Given the description of an element on the screen output the (x, y) to click on. 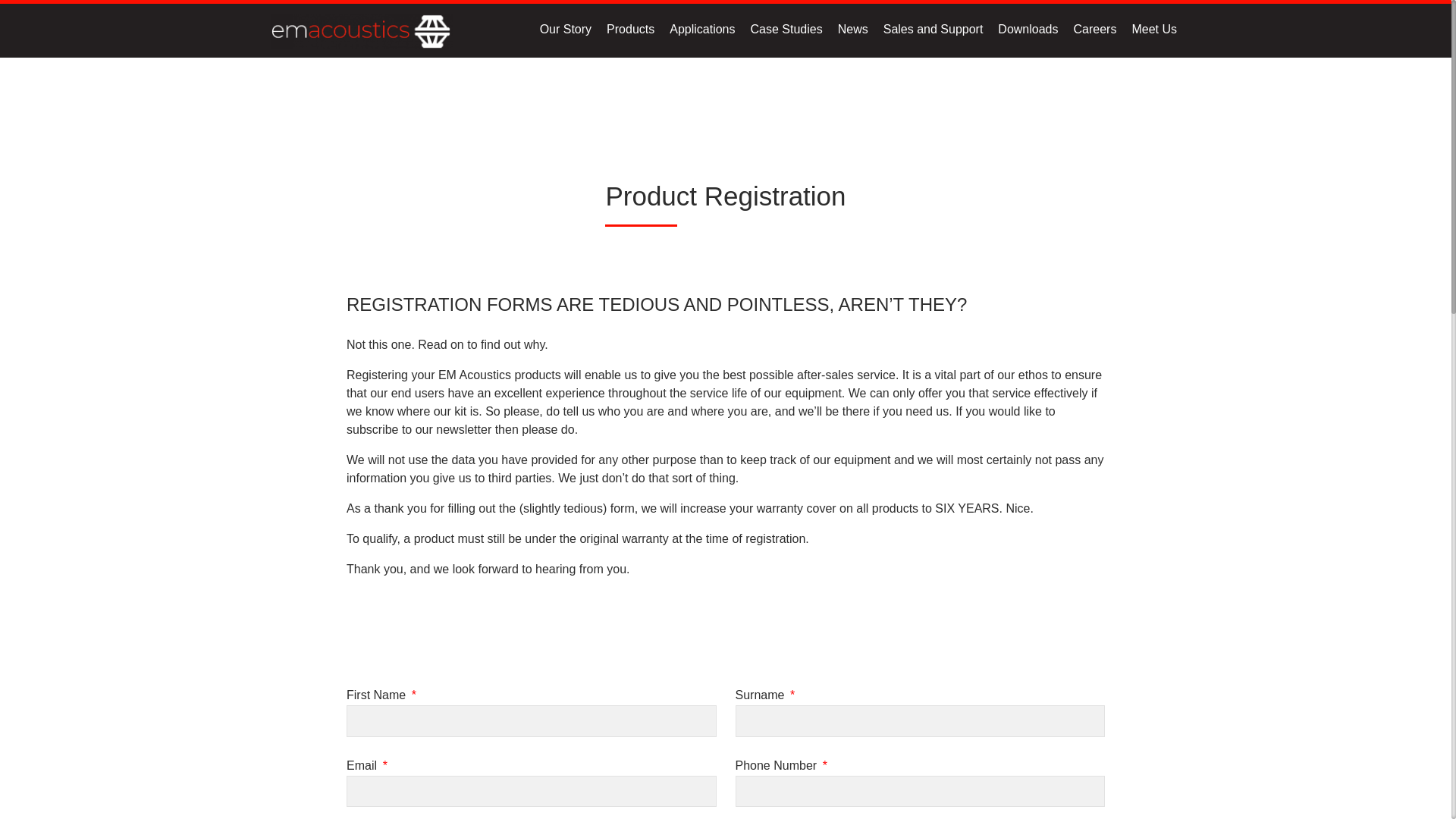
News (853, 29)
Our Story (565, 29)
Applications (701, 29)
Case Studies (786, 29)
Products (630, 29)
Sales and Support (933, 29)
